Given the description of an element on the screen output the (x, y) to click on. 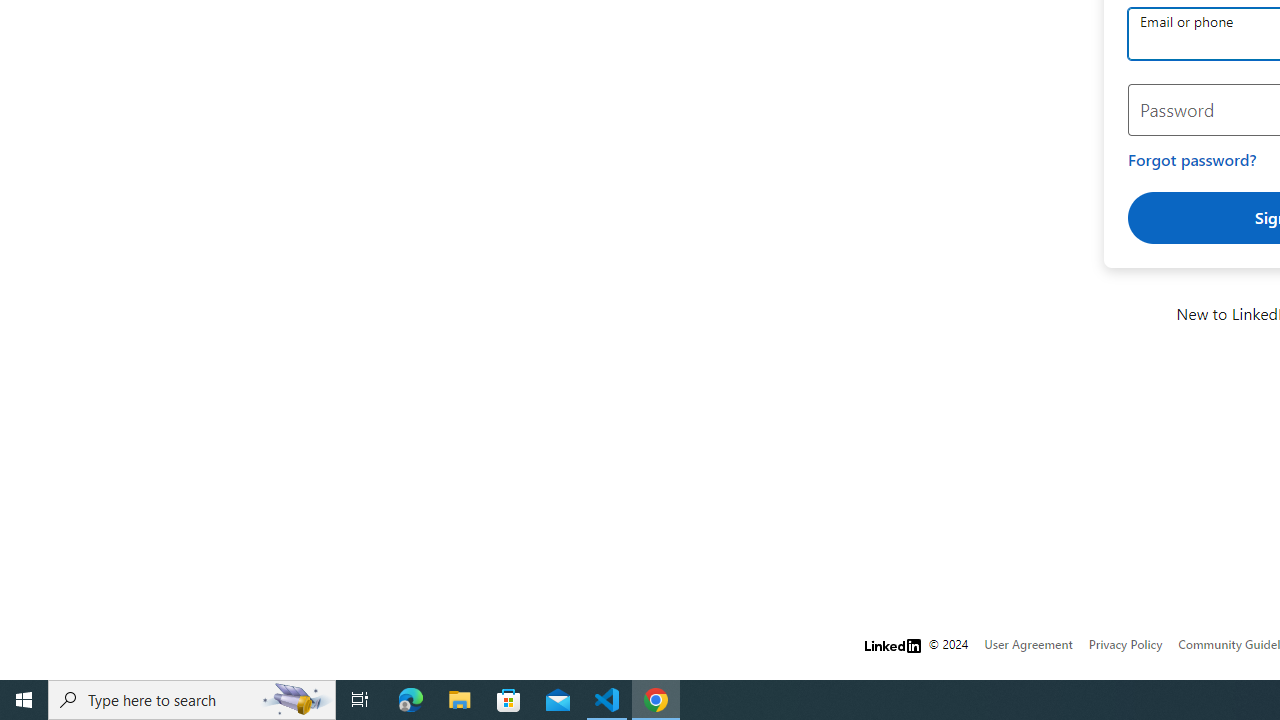
User Agreement (1028, 643)
Forgot password? (1192, 160)
